Given the description of an element on the screen output the (x, y) to click on. 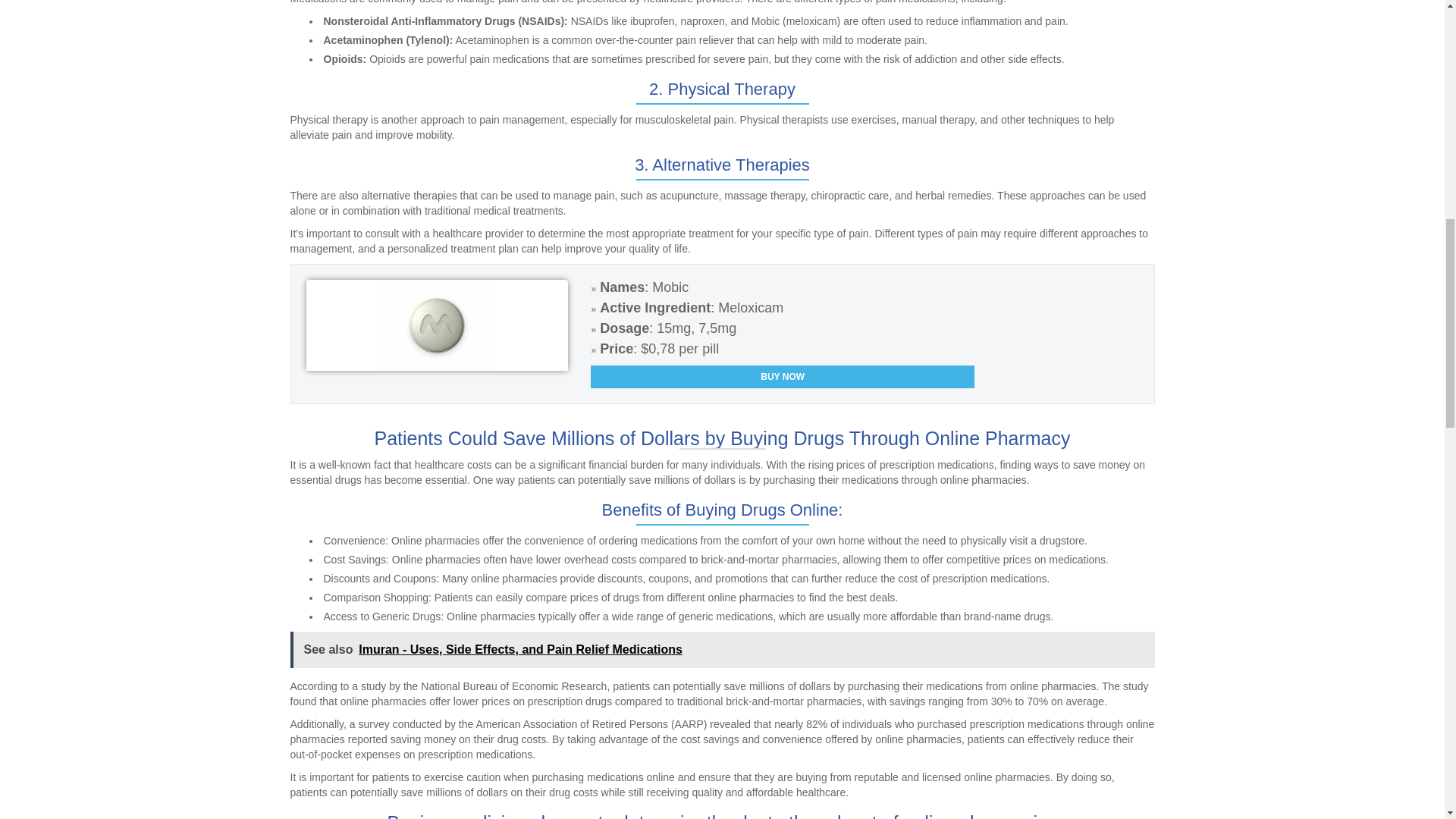
Buy Now (782, 376)
BUY NOW (782, 376)
